Given the description of an element on the screen output the (x, y) to click on. 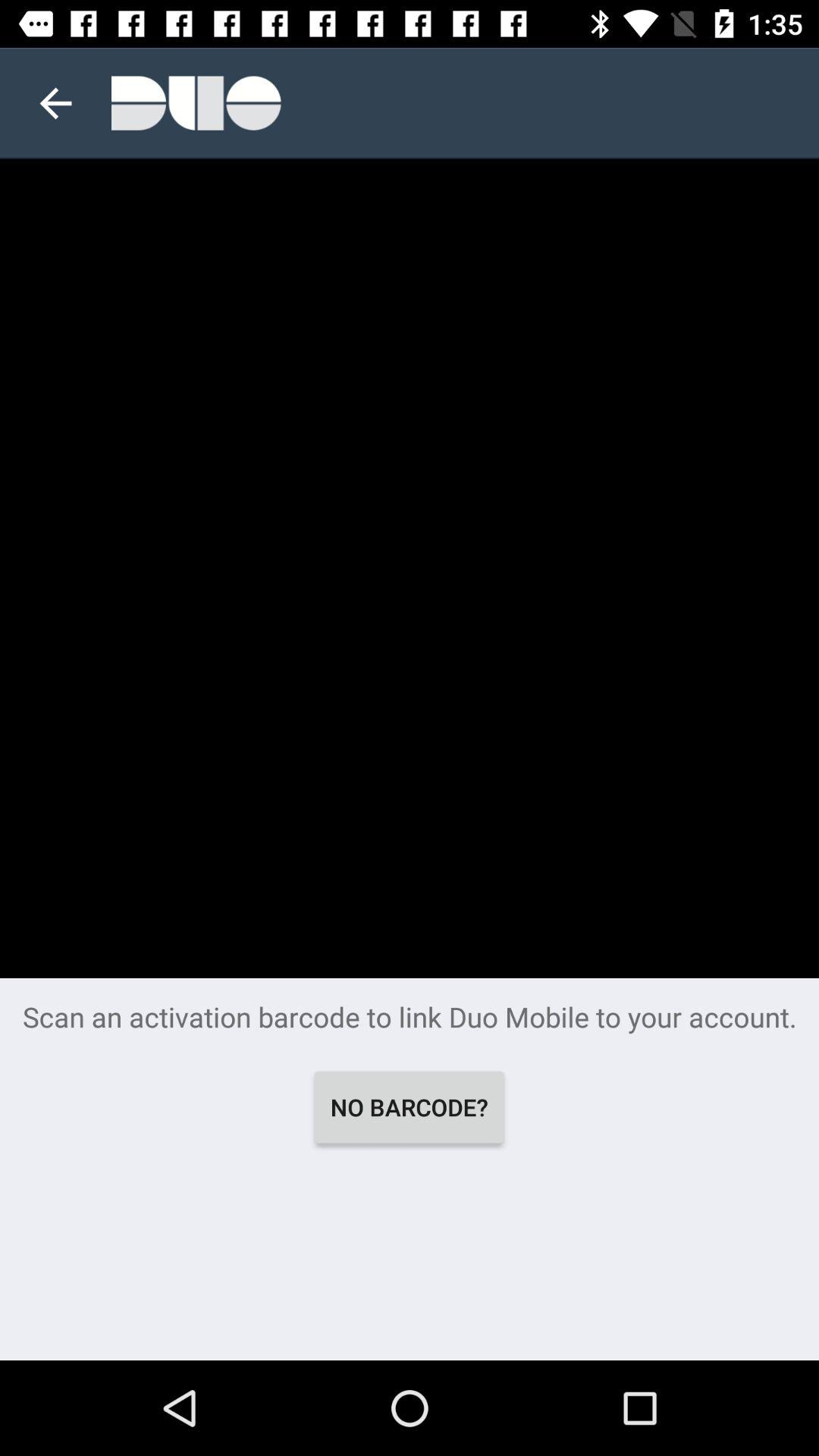
turn on icon below the scan an activation app (408, 1107)
